Given the description of an element on the screen output the (x, y) to click on. 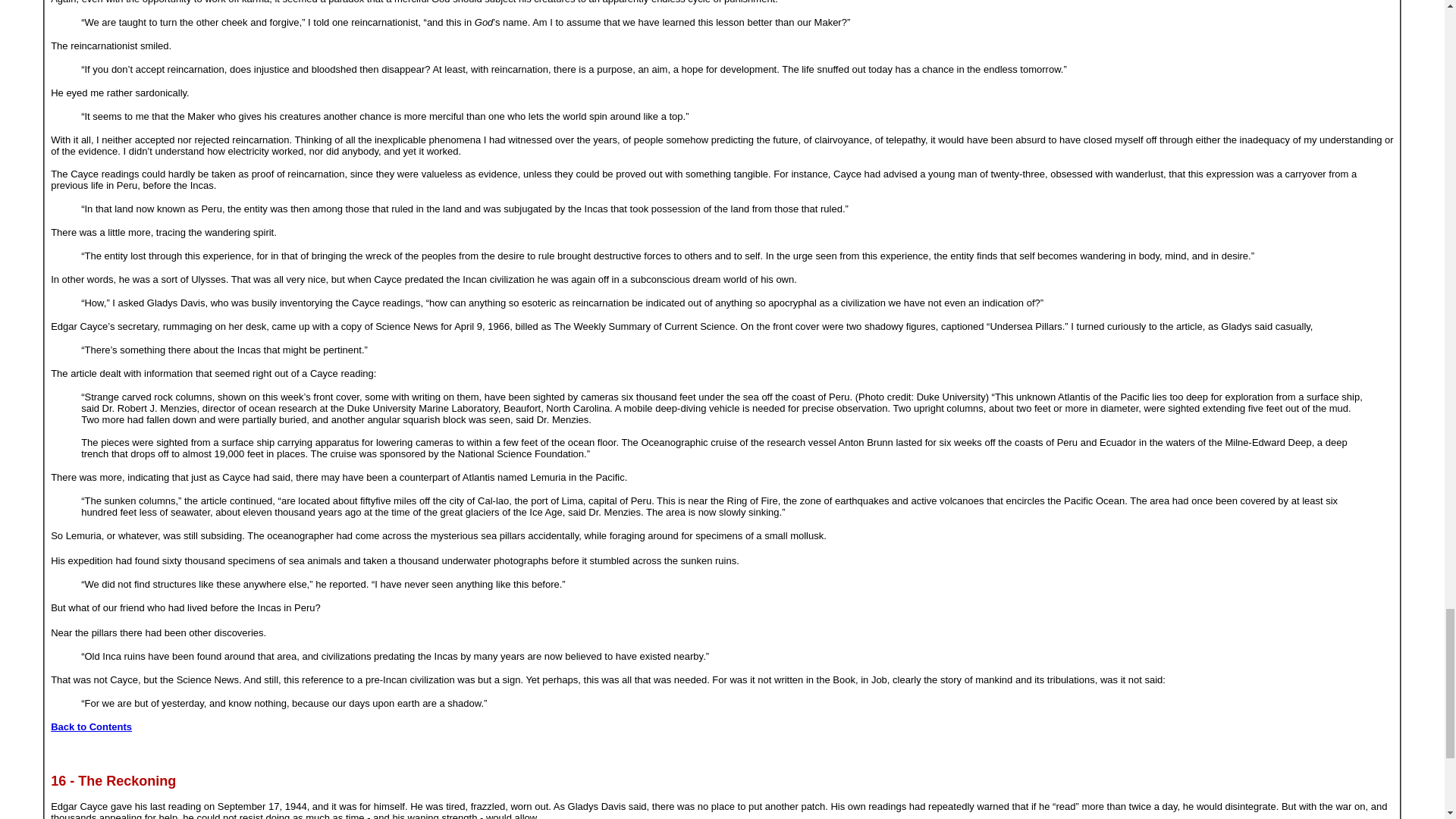
Back to Contents (91, 726)
